Given the description of an element on the screen output the (x, y) to click on. 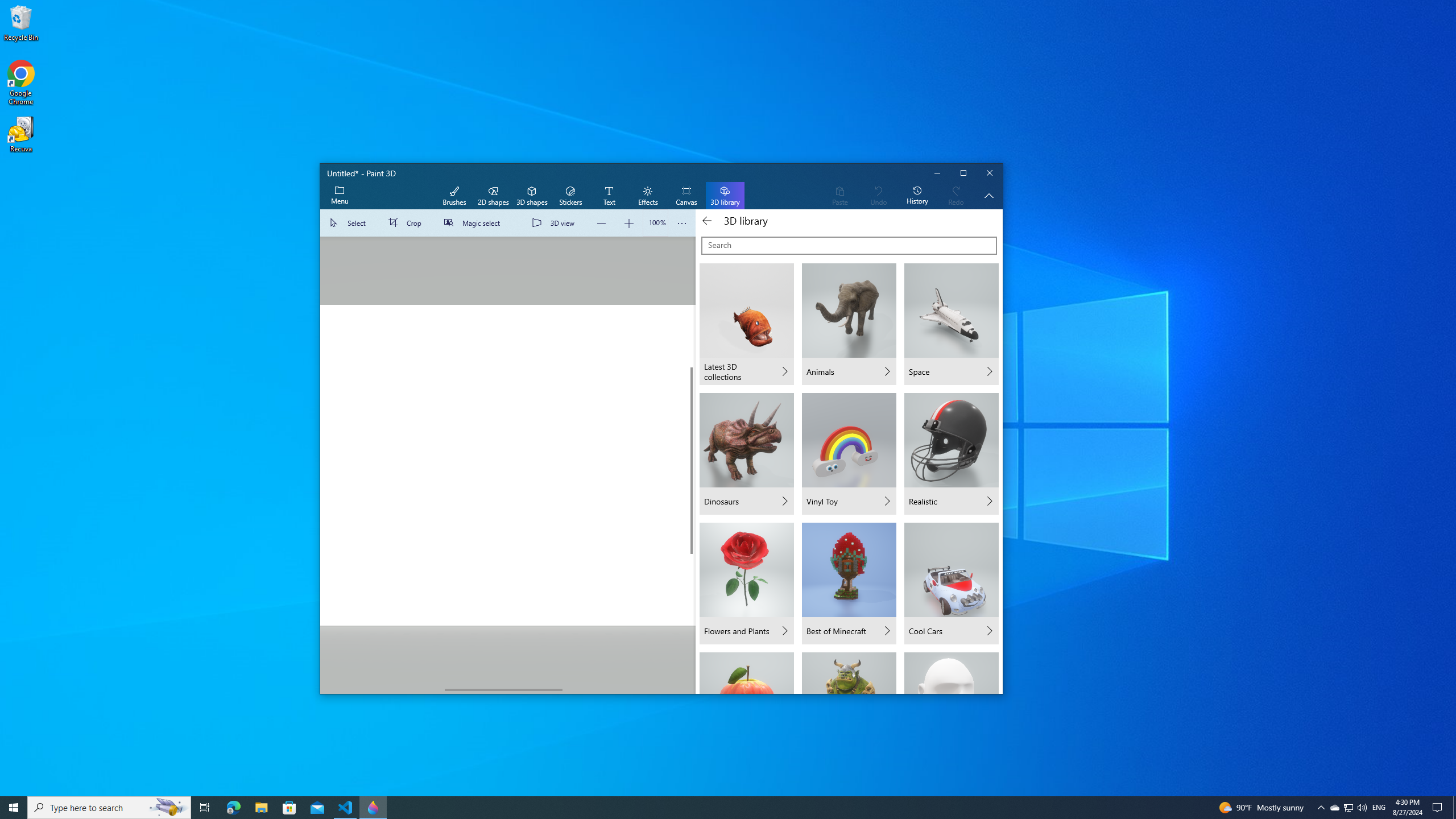
Cool Cars (951, 583)
3D view (555, 222)
Realistic (951, 453)
Hide description (989, 195)
Horizontal Large Increase (624, 689)
Select (350, 222)
Expand menu (339, 195)
